Given the description of an element on the screen output the (x, y) to click on. 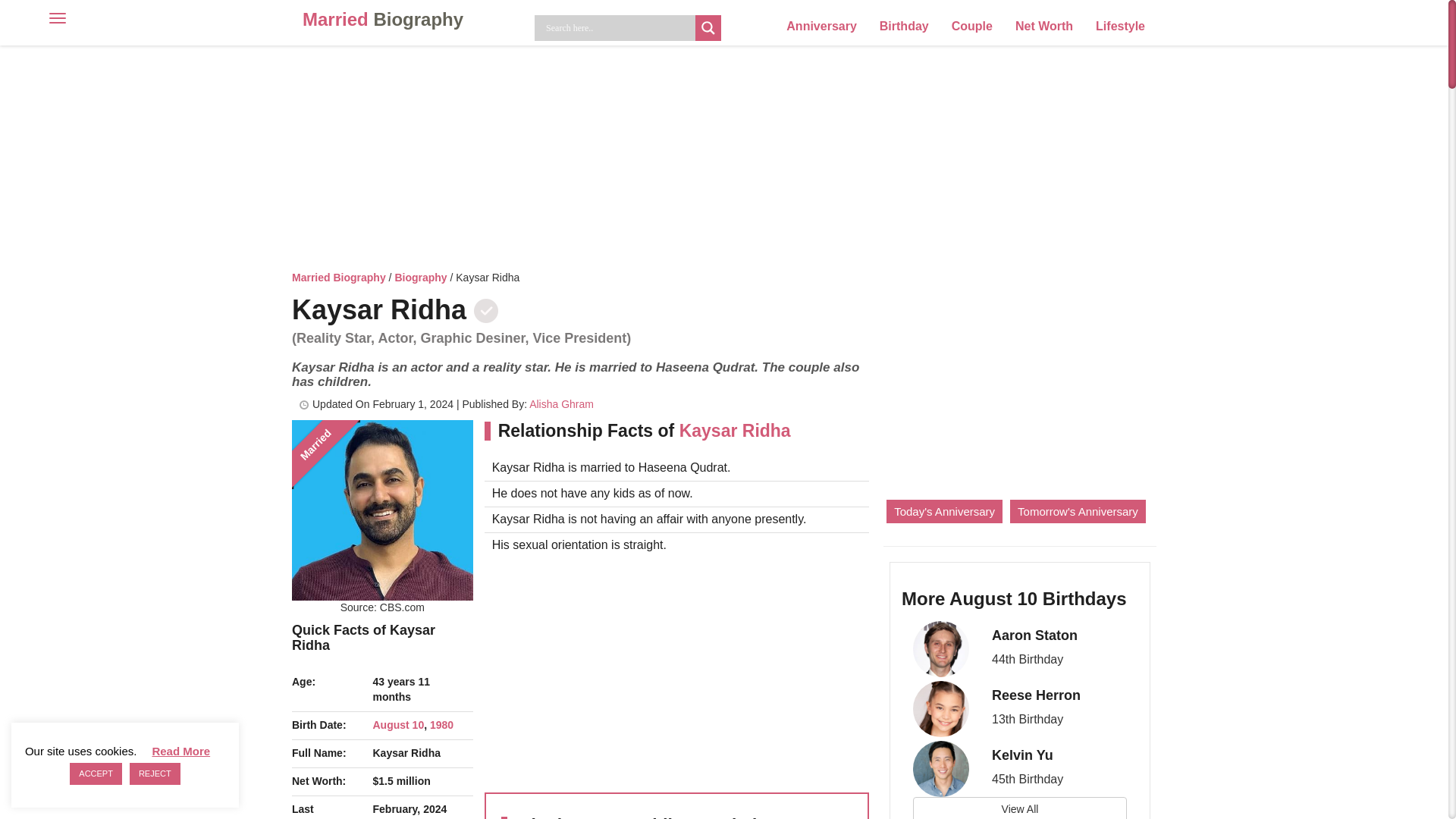
Biography (420, 277)
Lifestyle (1120, 26)
Married Biography (338, 277)
Married Biography (383, 19)
Married Biography (383, 19)
Kaysar Ridha (382, 510)
Toggle navigation (38, 16)
Net Worth (1044, 26)
Anniversary (820, 26)
Lifestyle (1120, 26)
Advertisement (676, 671)
Couple (972, 26)
Birthday (903, 26)
